Given the description of an element on the screen output the (x, y) to click on. 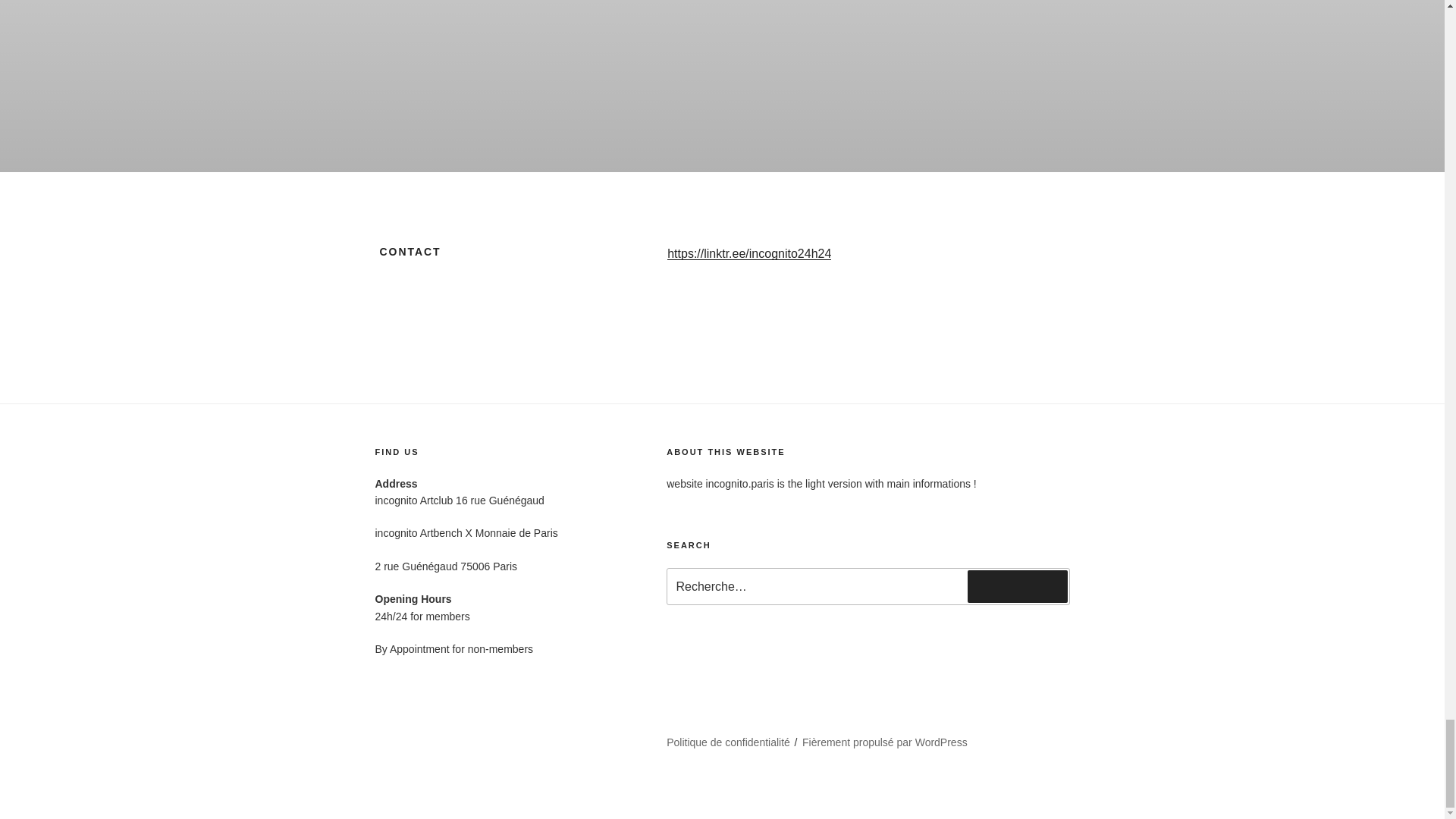
Soundcloud (545, 762)
YouTube (403, 762)
Vimeo (470, 762)
Instagram (486, 736)
Twitter (557, 736)
E-mail (396, 787)
Facebook (406, 736)
Recherche (1017, 585)
